Given the description of an element on the screen output the (x, y) to click on. 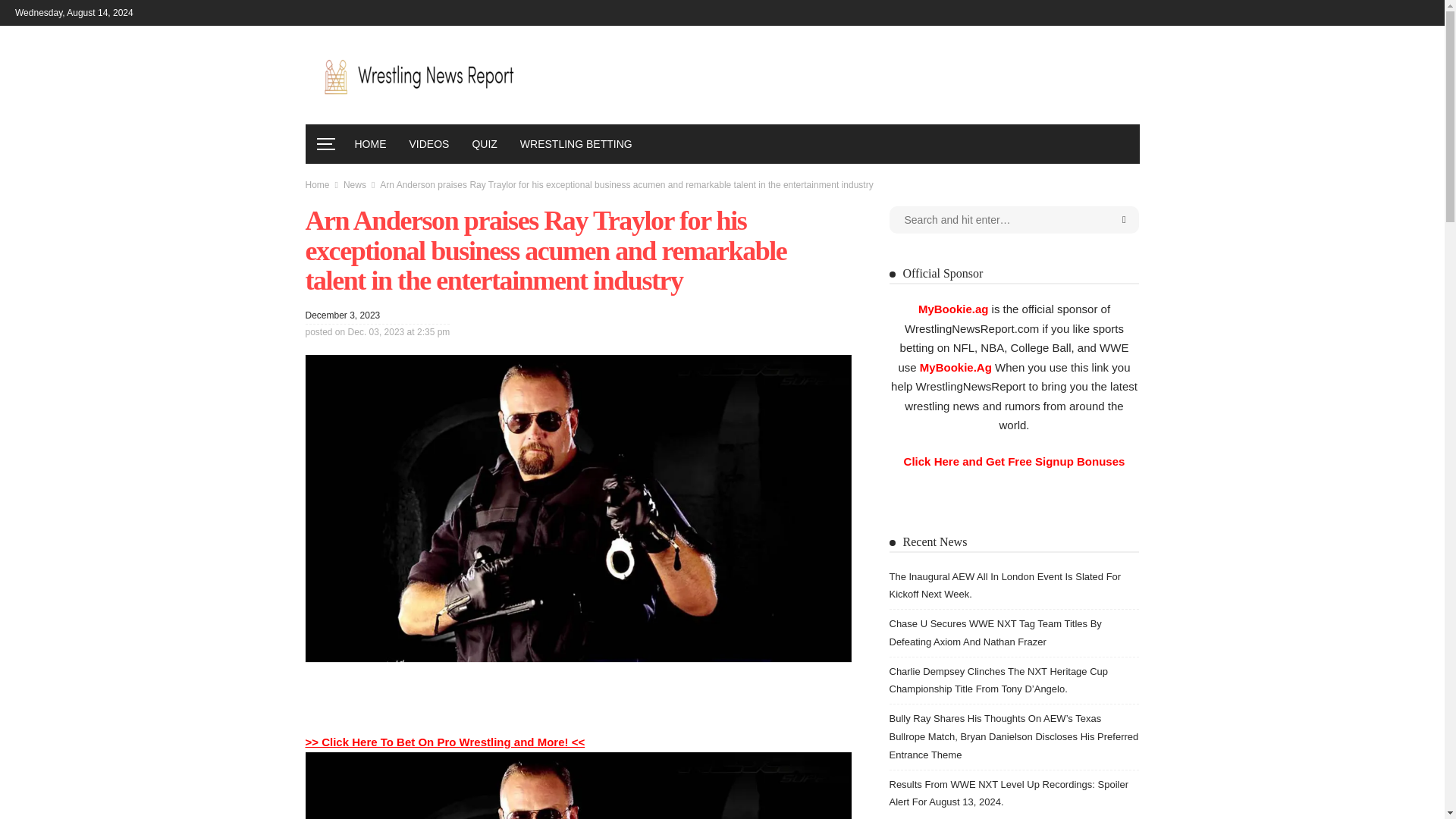
HOME (369, 143)
VIDEOS (428, 143)
Home (316, 184)
Home (316, 184)
News (354, 184)
QUIZ (484, 143)
WRESTLING BETTING (575, 143)
